Given the description of an element on the screen output the (x, y) to click on. 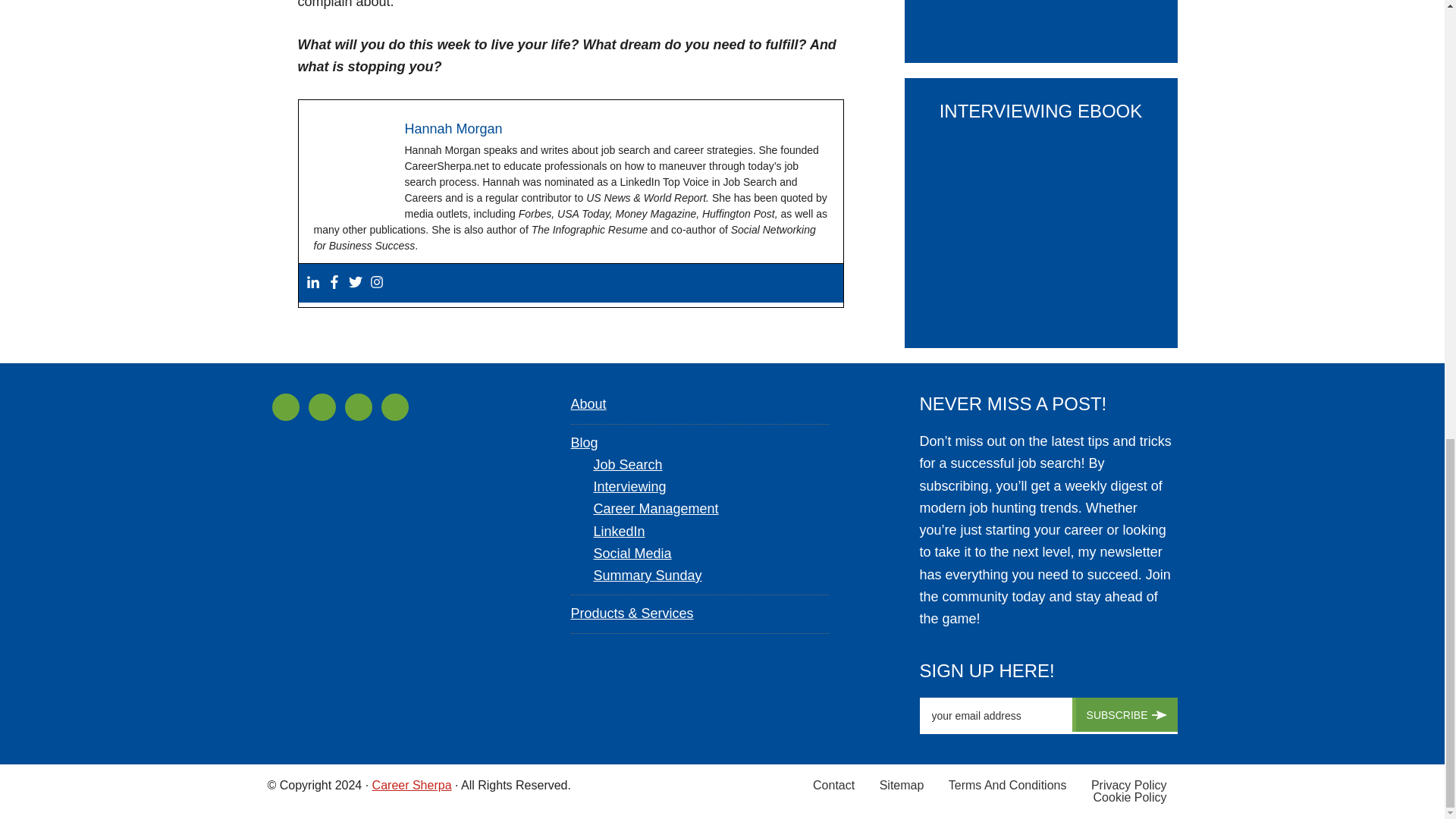
Linkedin (312, 283)
Facebook (333, 283)
Twitter (355, 283)
Instagram (376, 283)
Hannah Morgan (453, 128)
Career Sherpa (411, 784)
SUBSCRIBE (1124, 714)
